Given the description of an element on the screen output the (x, y) to click on. 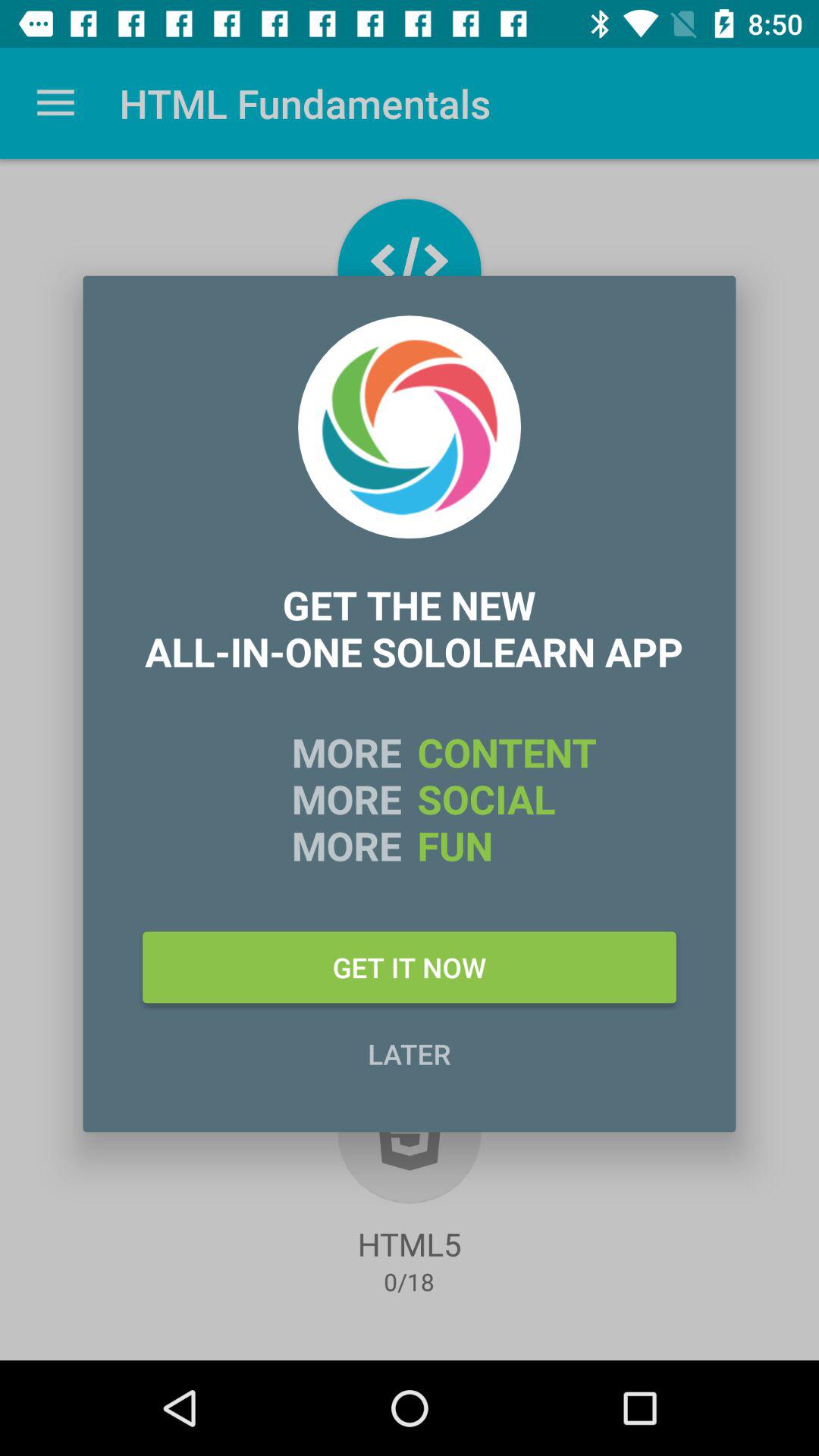
turn on icon below the more
more
more (409, 967)
